Given the description of an element on the screen output the (x, y) to click on. 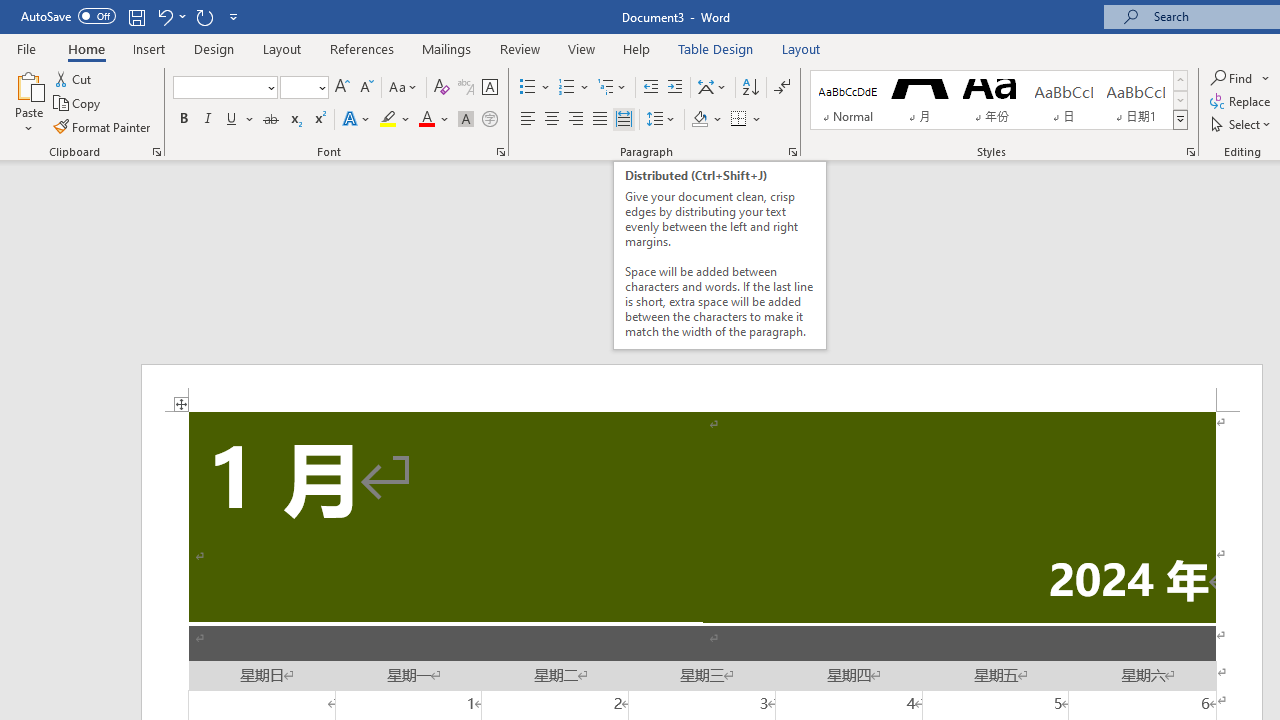
Font Color RGB(255, 0, 0) (426, 119)
Undo Apply Quick Style (170, 15)
